Given the description of an element on the screen output the (x, y) to click on. 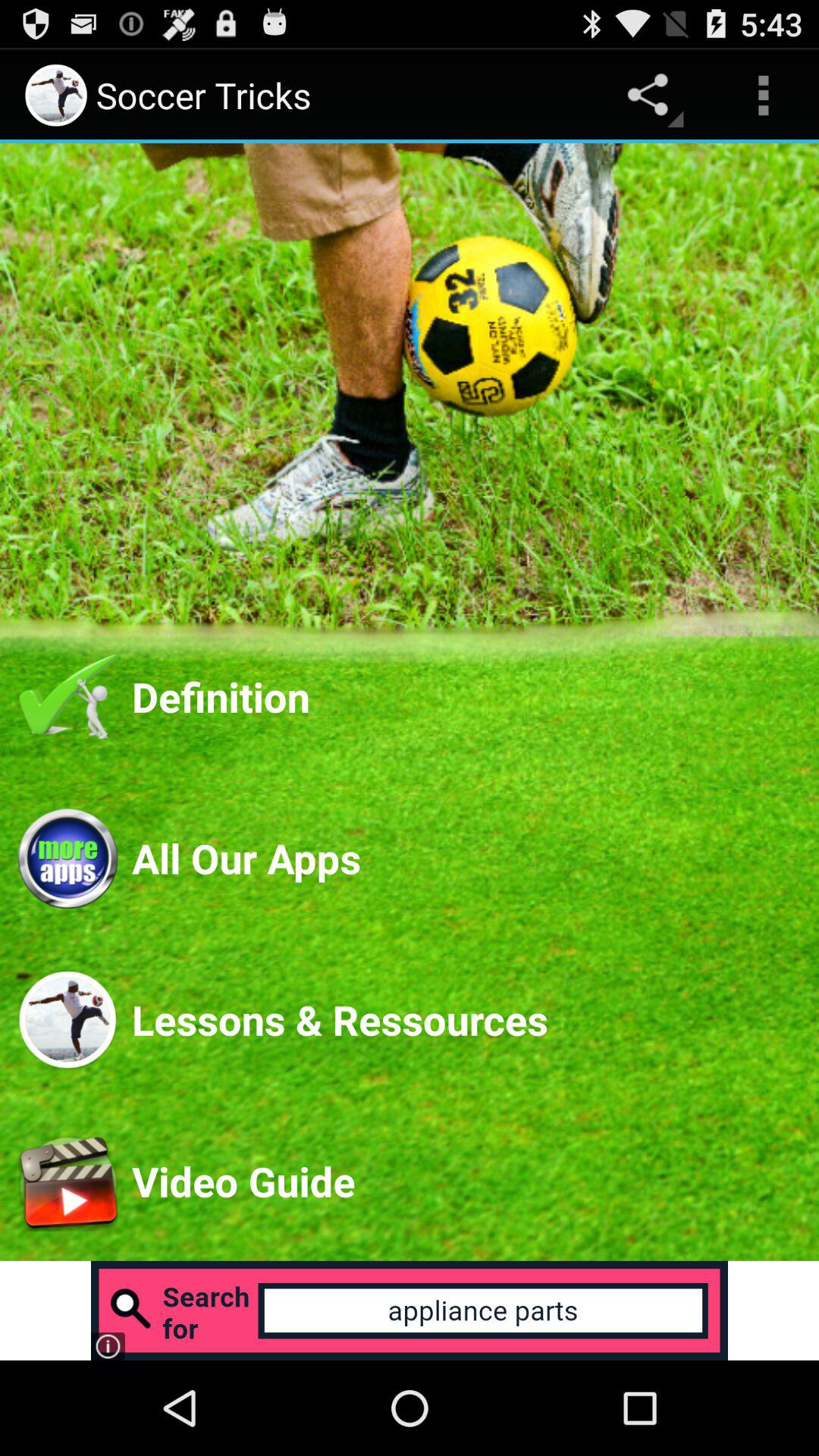
click the lessons & ressources item (465, 1019)
